Given the description of an element on the screen output the (x, y) to click on. 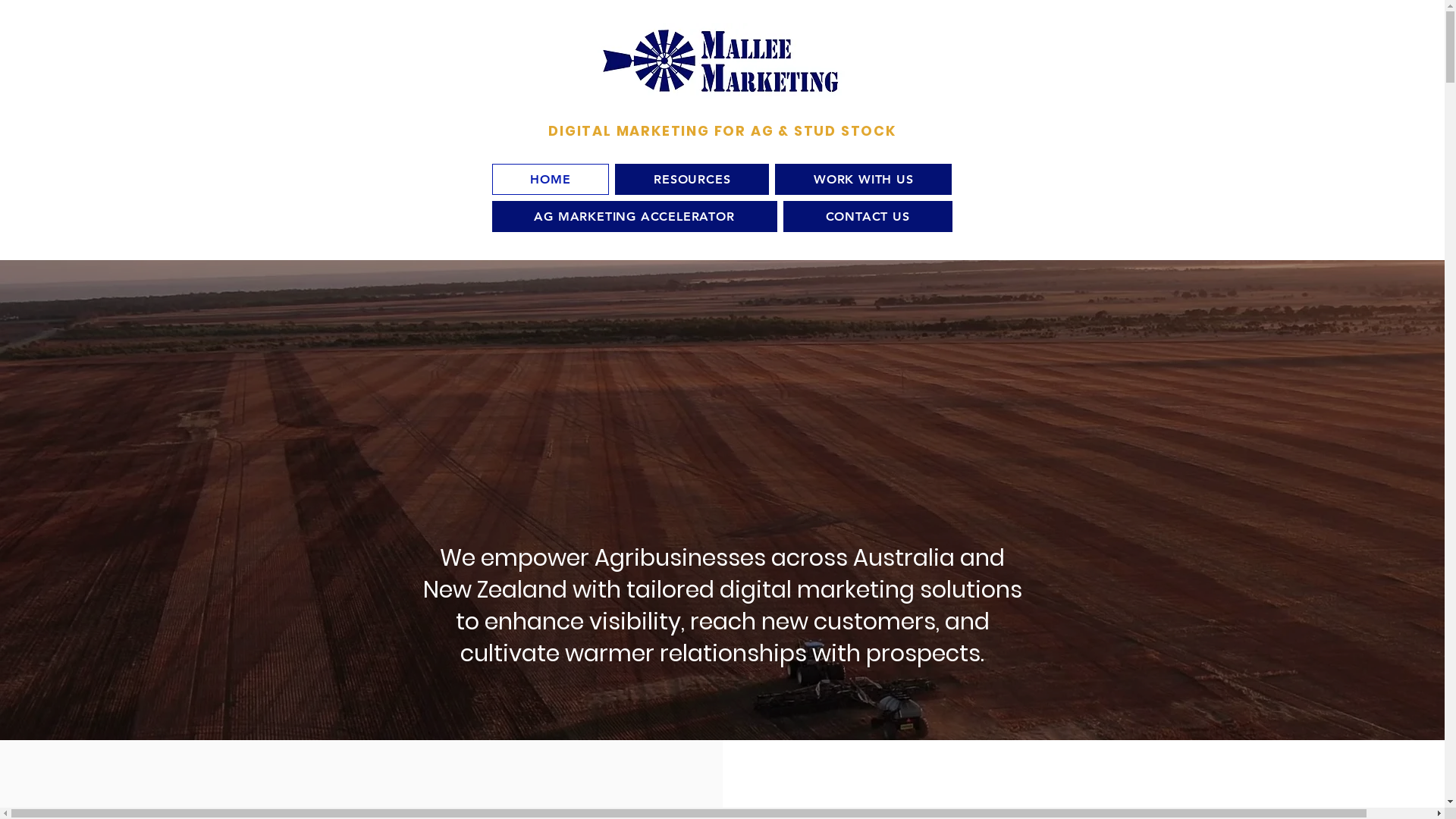
AG MARKETING ACCELERATOR Element type: text (633, 216)
WORK WITH US Element type: text (863, 178)
HOME Element type: text (549, 178)
RESOURCES Element type: text (691, 178)
CONTACT US Element type: text (867, 216)
